Given the description of an element on the screen output the (x, y) to click on. 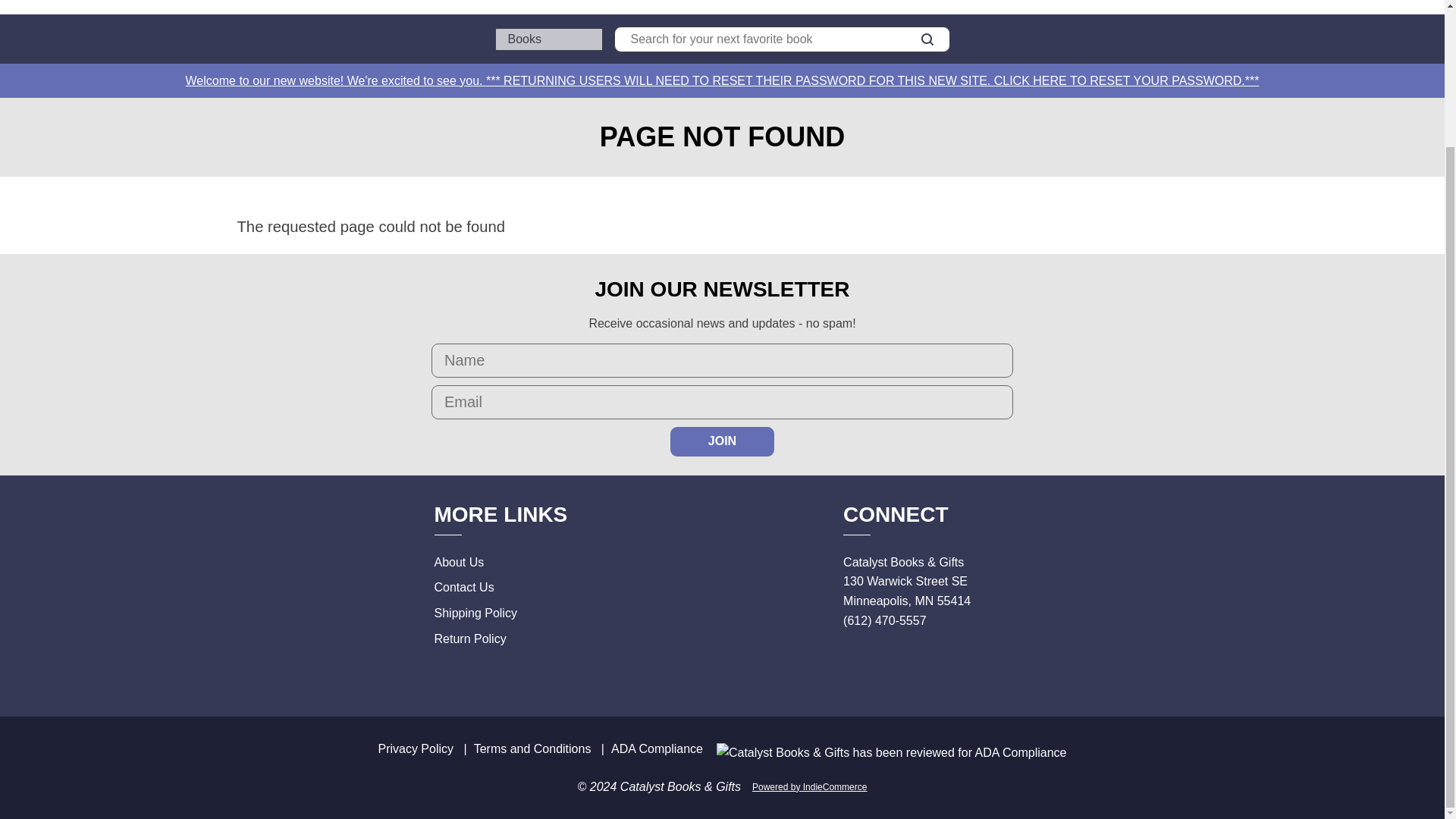
SEARCH (926, 39)
Shipping Policy (474, 612)
Terms and Conditions (532, 748)
Privacy Policy (414, 748)
Return Policy (469, 638)
Connect with Facebook (852, 663)
ADA Compliance (657, 748)
Connect with X (885, 663)
Contact Us (463, 586)
About Us (458, 562)
